Given the description of an element on the screen output the (x, y) to click on. 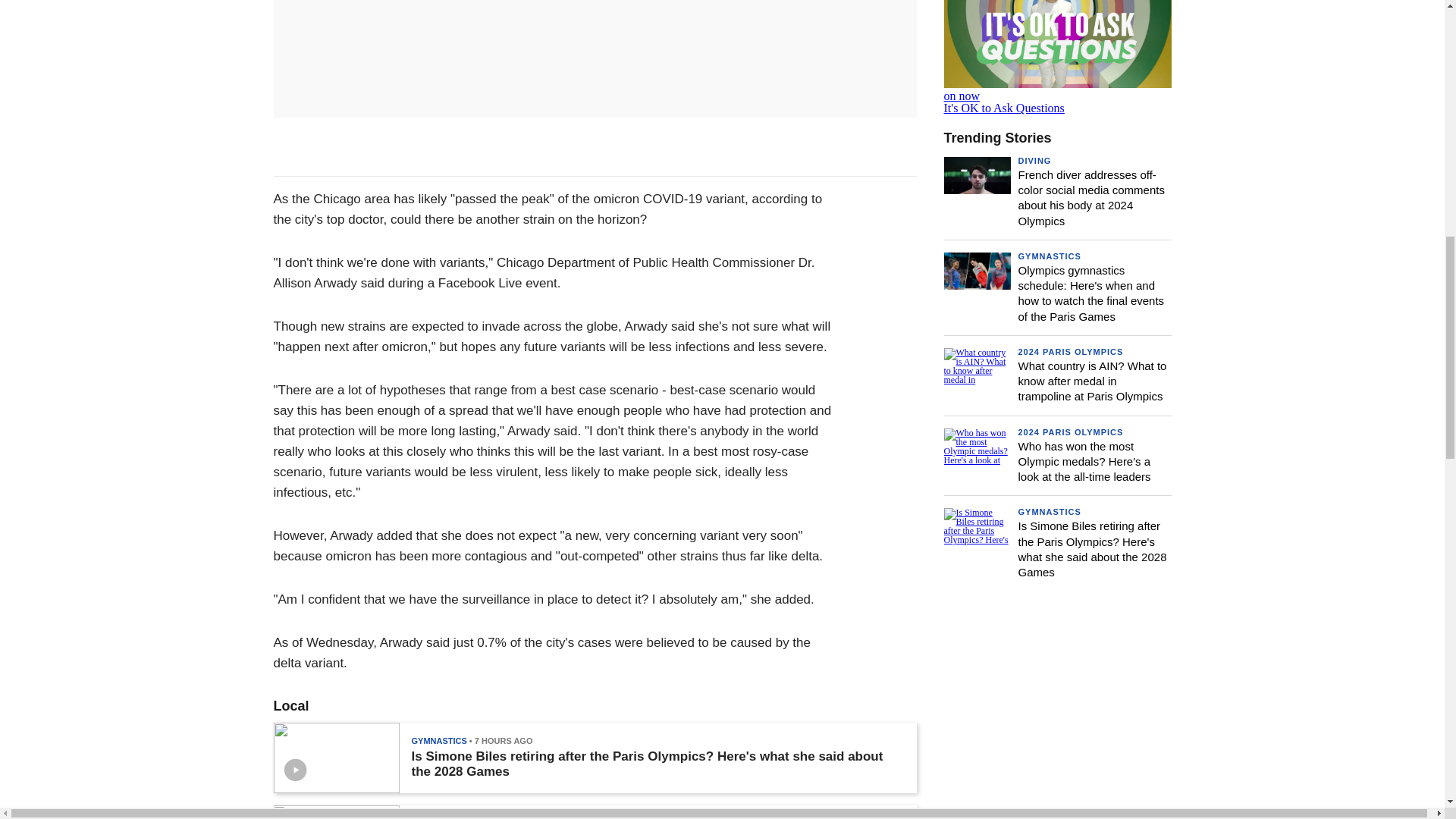
GYMNASTICS (1056, 57)
